Given the description of an element on the screen output the (x, y) to click on. 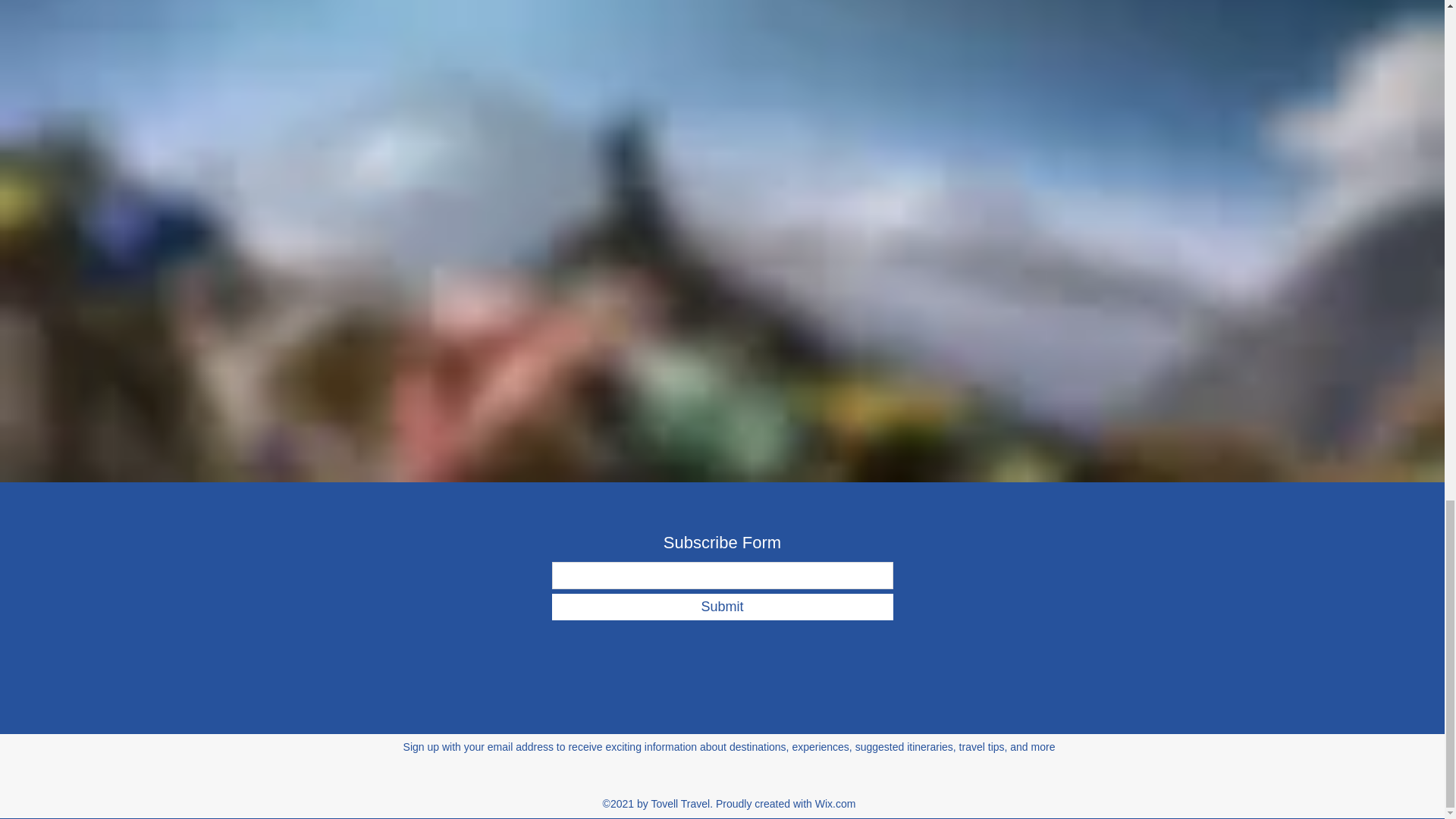
Submit (722, 606)
